Given the description of an element on the screen output the (x, y) to click on. 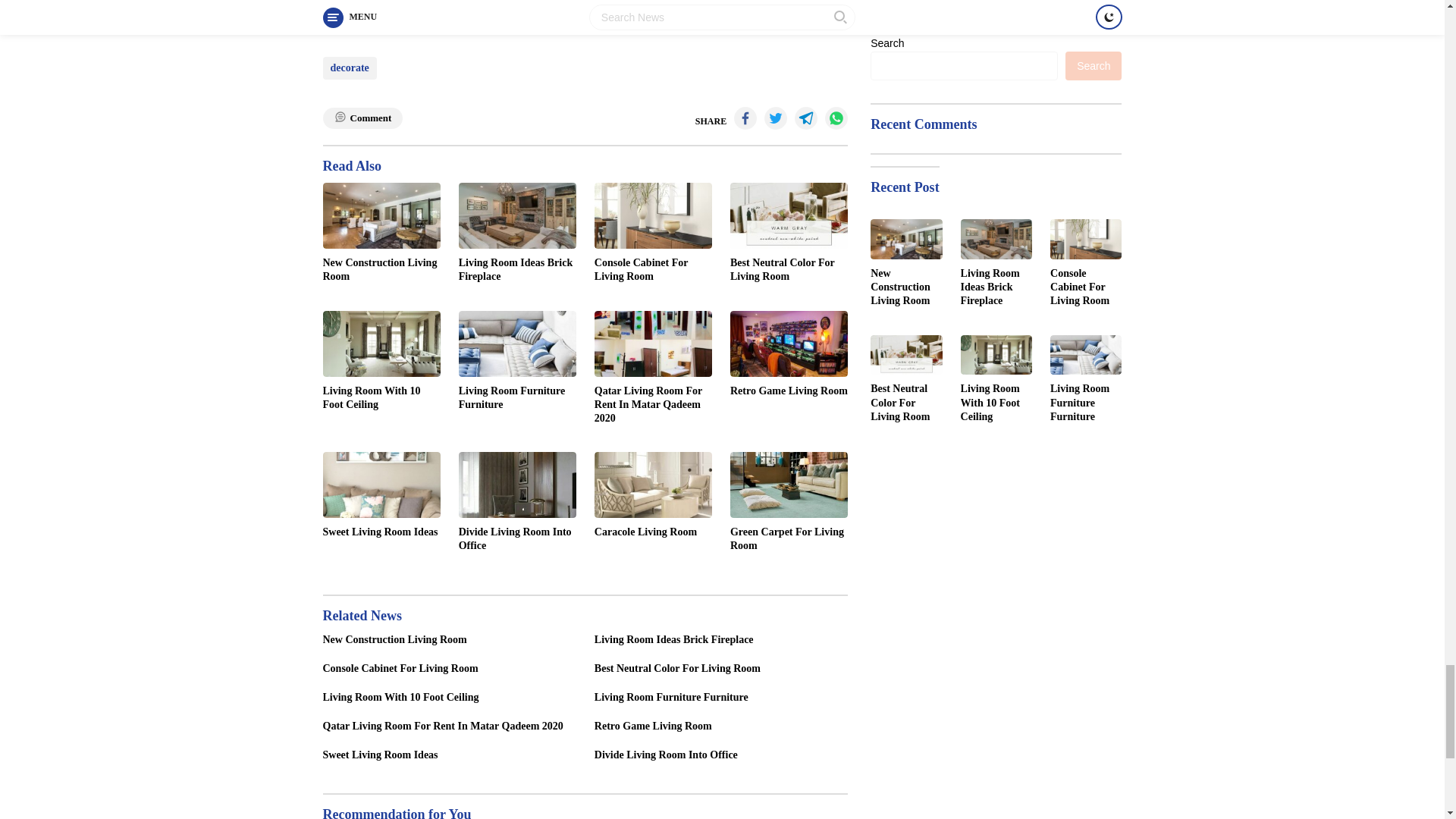
decorate (350, 67)
Comment (363, 118)
New Construction Living Room (382, 269)
